Given the description of an element on the screen output the (x, y) to click on. 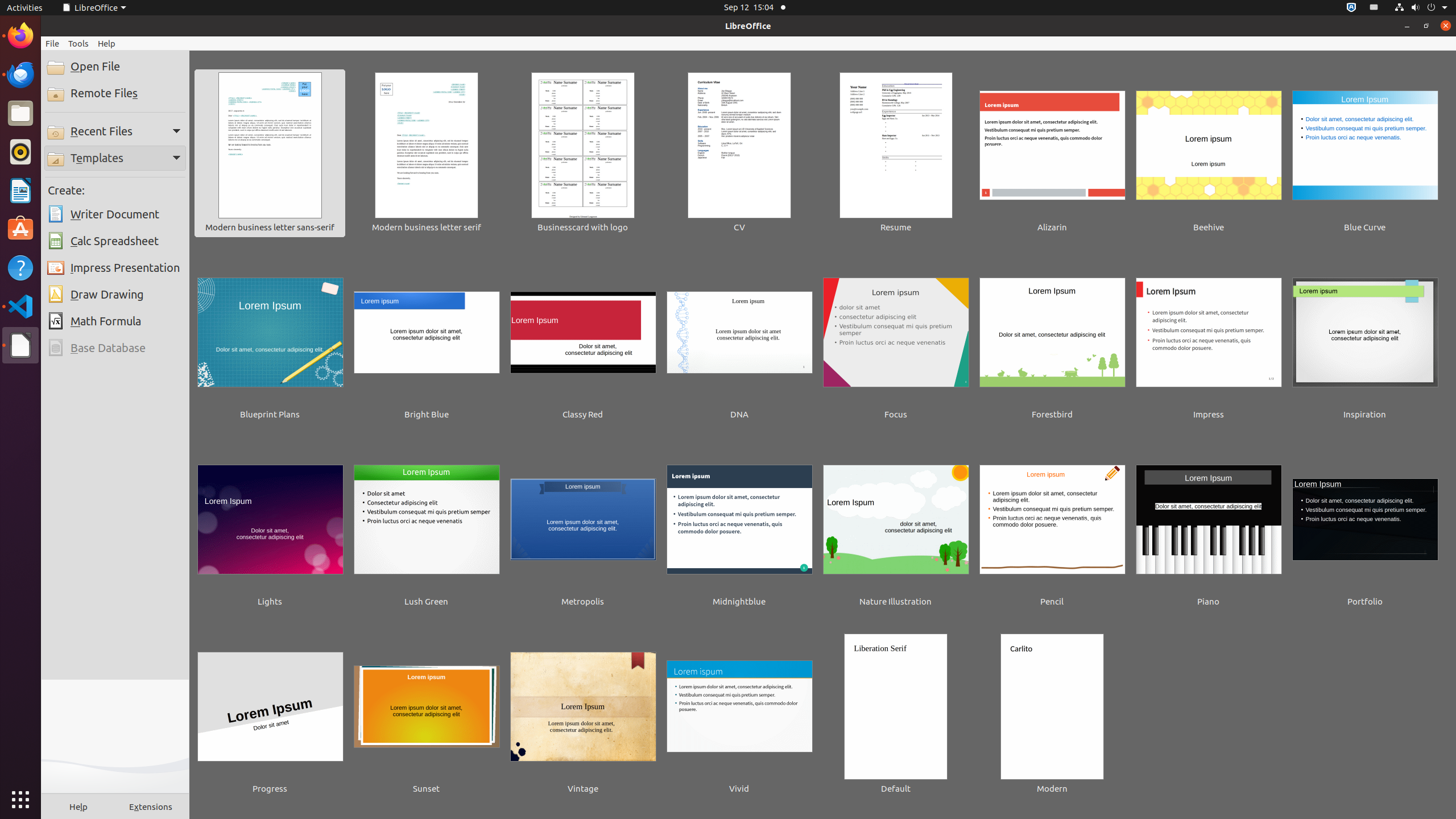
Open File Element type: push-button (114, 66)
Piano Element type: list-item (1208, 527)
Vivid Element type: list-item (739, 714)
